Given the description of an element on the screen output the (x, y) to click on. 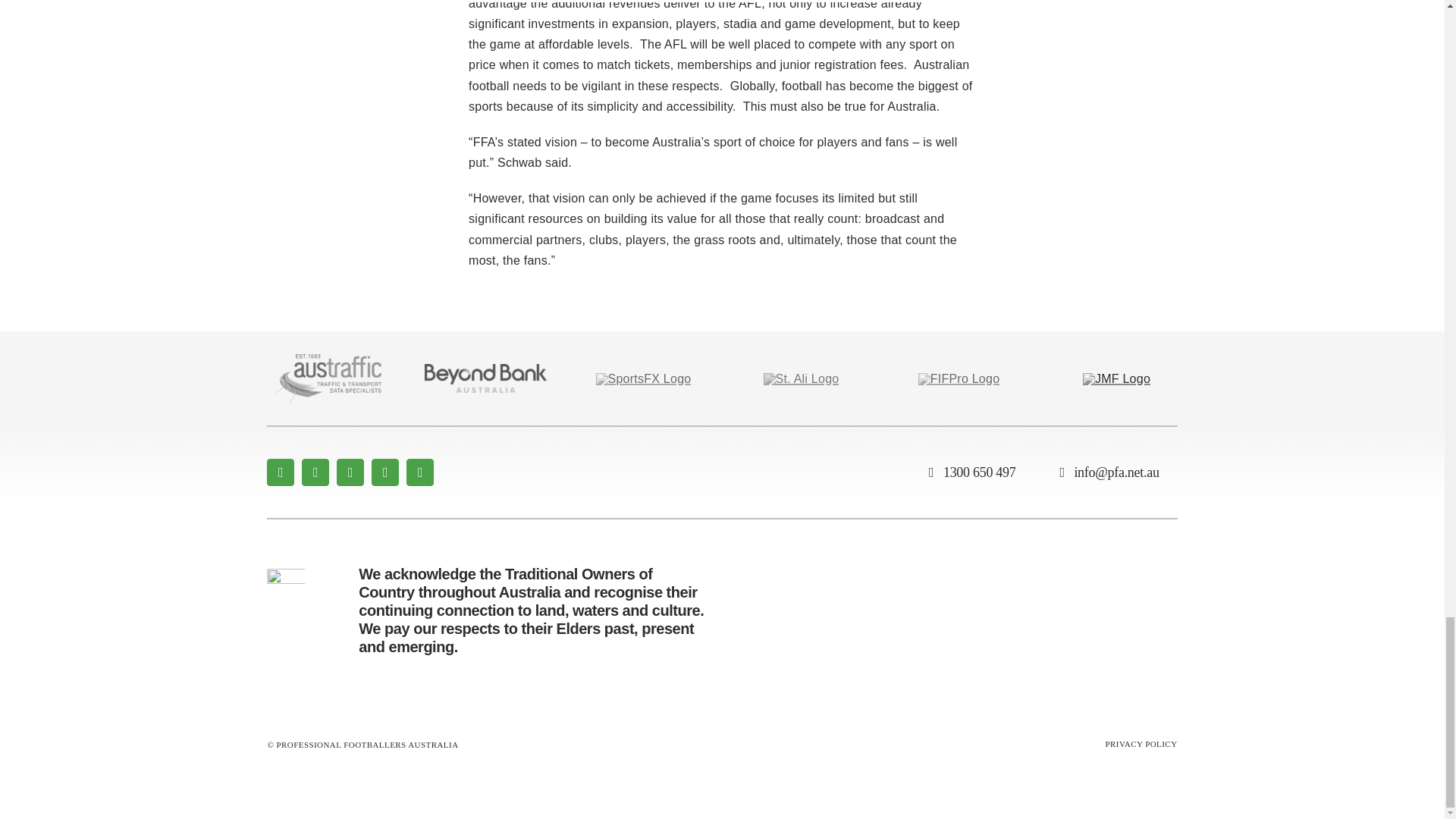
Facebook (280, 472)
X (315, 472)
Instagram (350, 472)
YouTube (384, 472)
LinkedIn (419, 472)
